Given the description of an element on the screen output the (x, y) to click on. 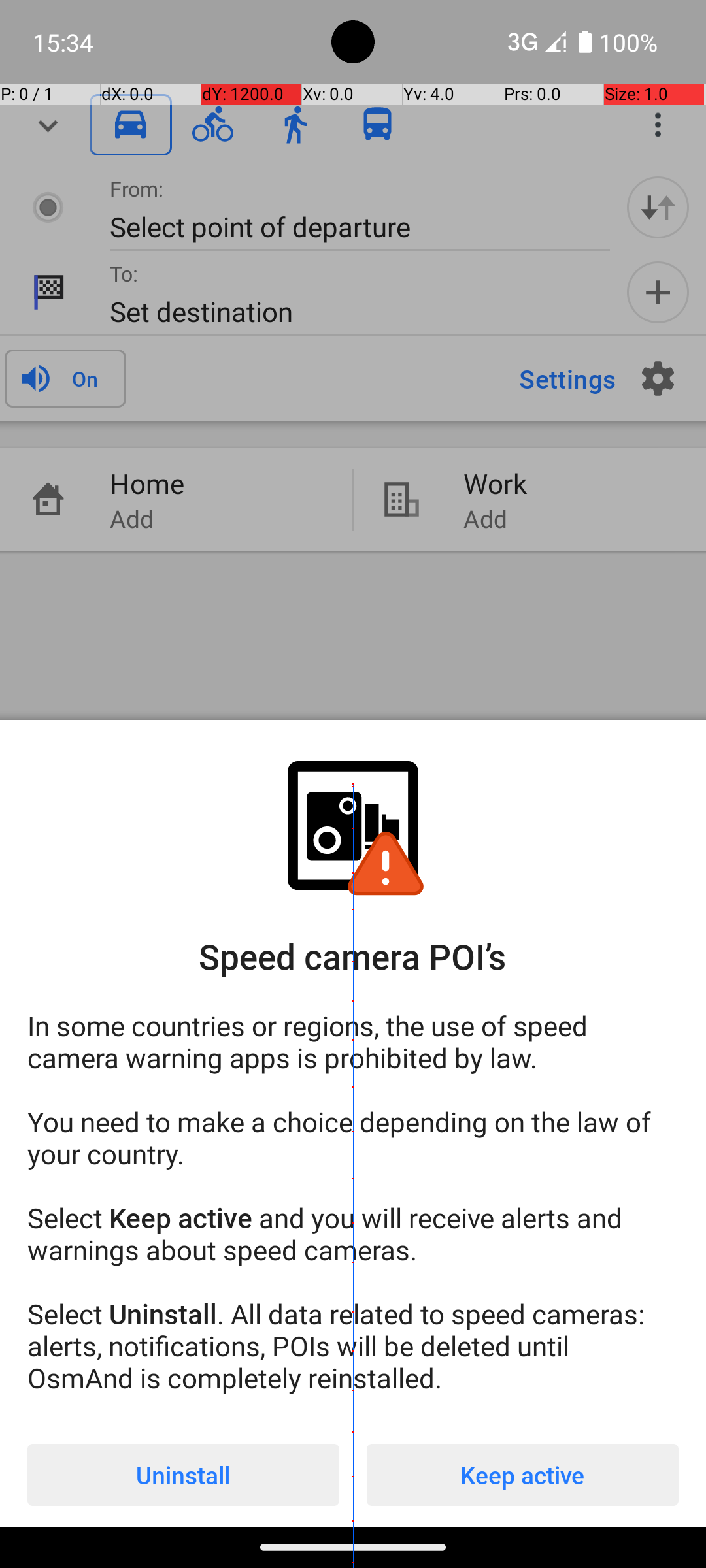
Close the dialog Element type: android.view.View (353, 388)
